Given the description of an element on the screen output the (x, y) to click on. 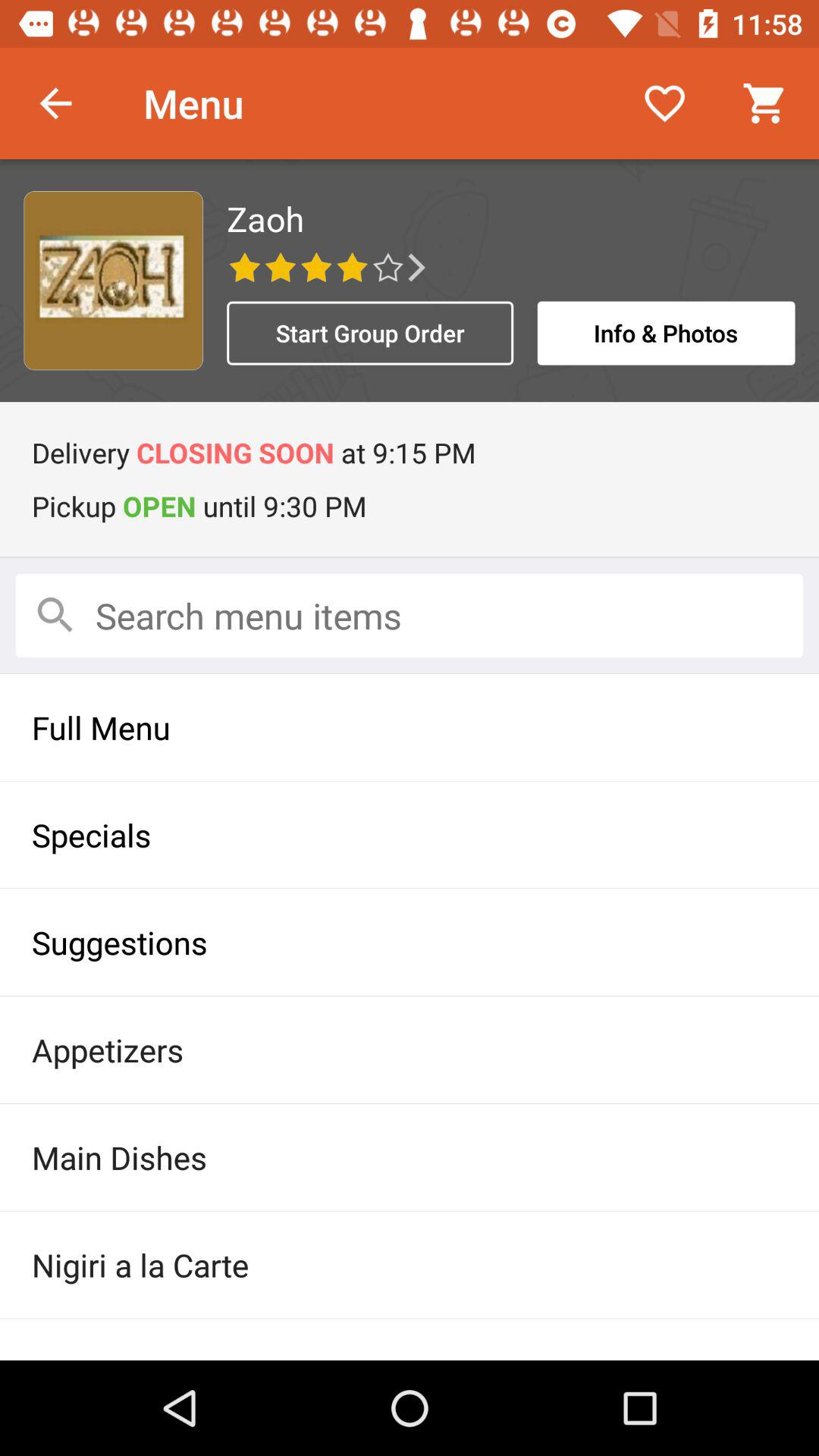
choose nigiri a la item (409, 1264)
